Given the description of an element on the screen output the (x, y) to click on. 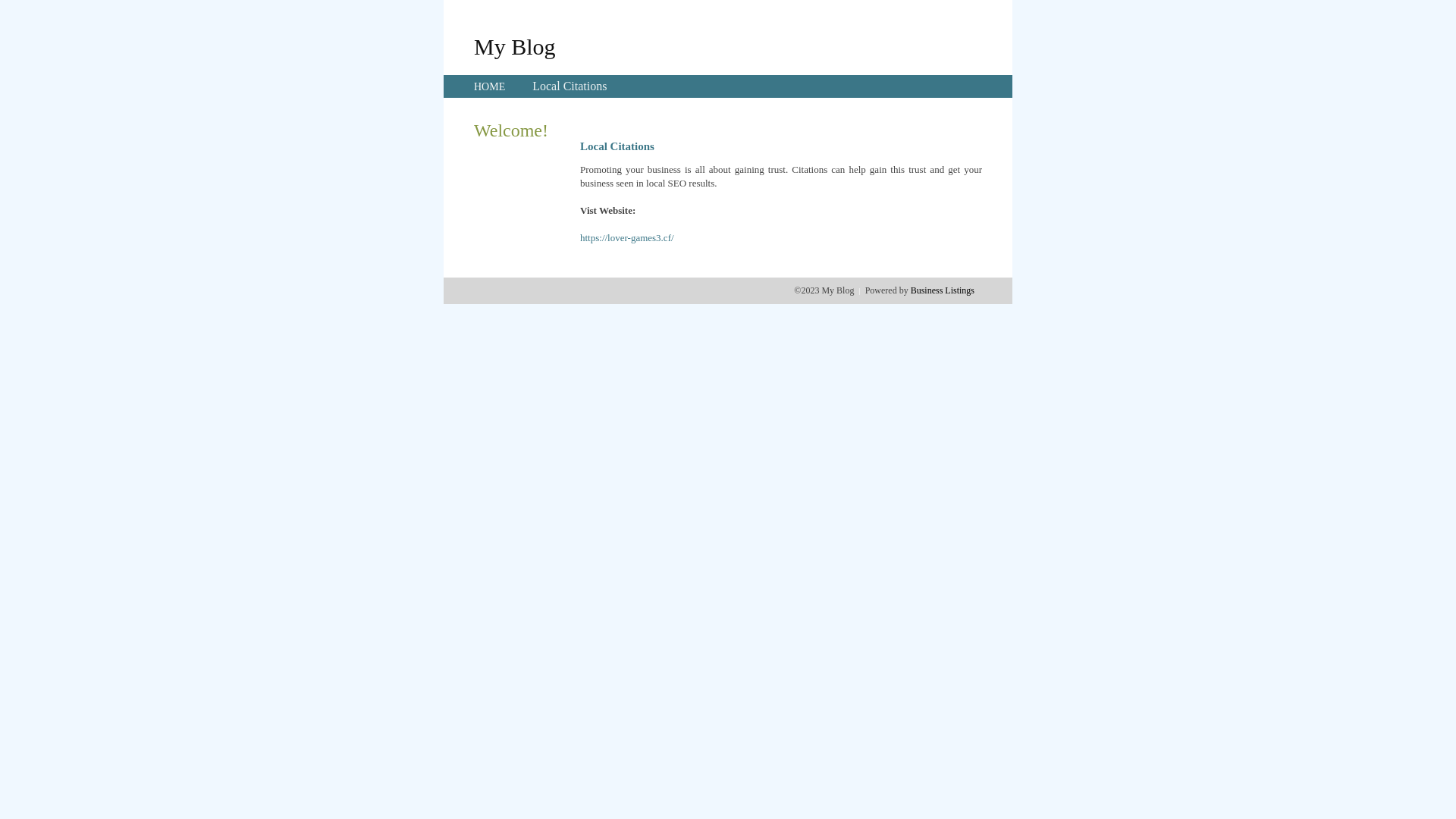
Business Listings Element type: text (942, 290)
My Blog Element type: text (514, 46)
Local Citations Element type: text (569, 85)
https://lover-games3.cf/ Element type: text (627, 237)
HOME Element type: text (489, 86)
